Given the description of an element on the screen output the (x, y) to click on. 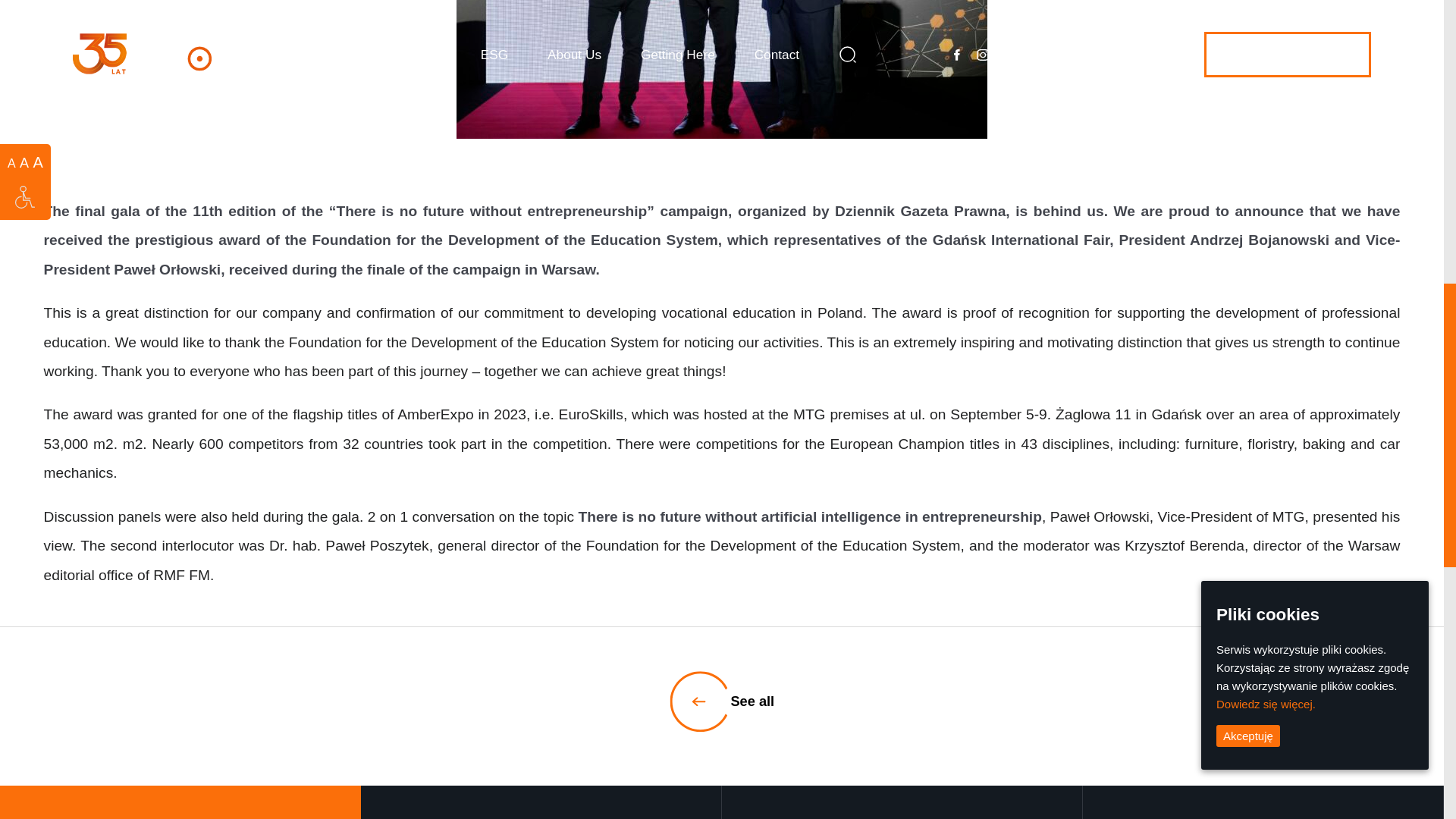
See all (721, 701)
